Given the description of an element on the screen output the (x, y) to click on. 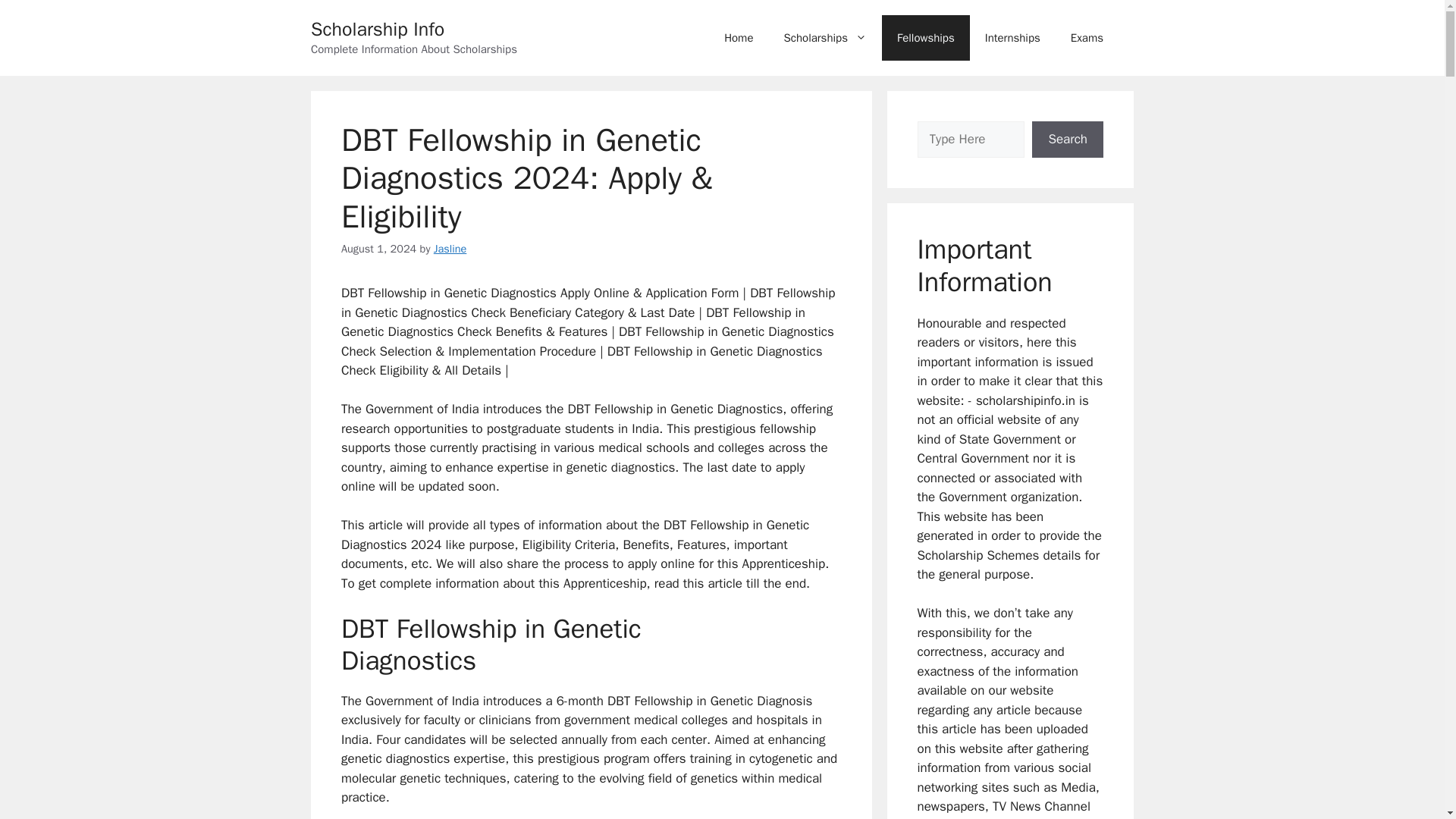
View all posts by Jasline (450, 248)
Fellowships (925, 37)
Jasline (450, 248)
Scholarships (825, 37)
Exams (1086, 37)
Home (738, 37)
Internships (1012, 37)
Scholarship Info (377, 28)
